Given the description of an element on the screen output the (x, y) to click on. 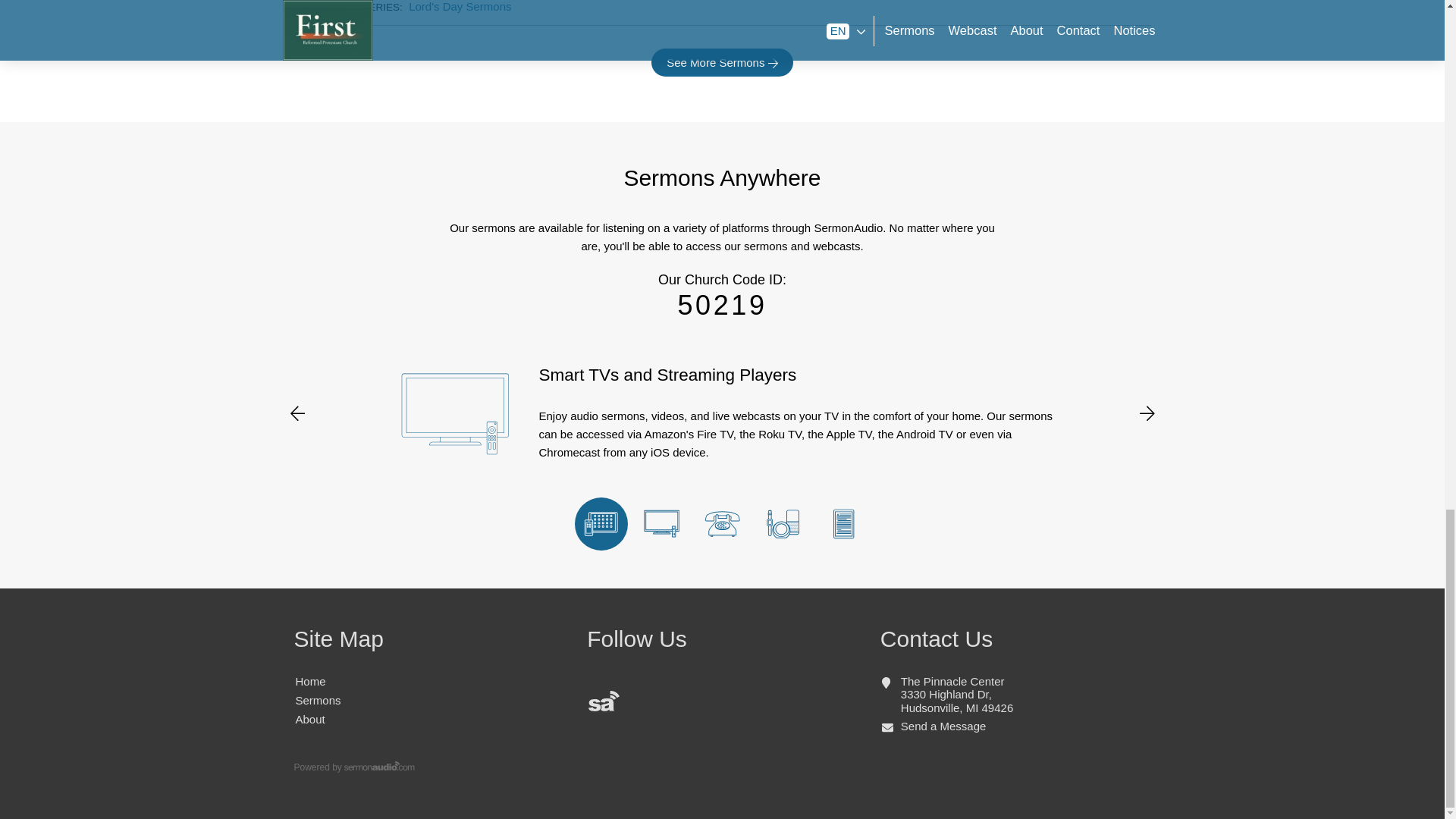
Sermons (317, 699)
Home (310, 680)
About (309, 718)
Lord's Day Sermons (460, 6)
See More Sermons (721, 62)
Send a Message (944, 725)
